Given the description of an element on the screen output the (x, y) to click on. 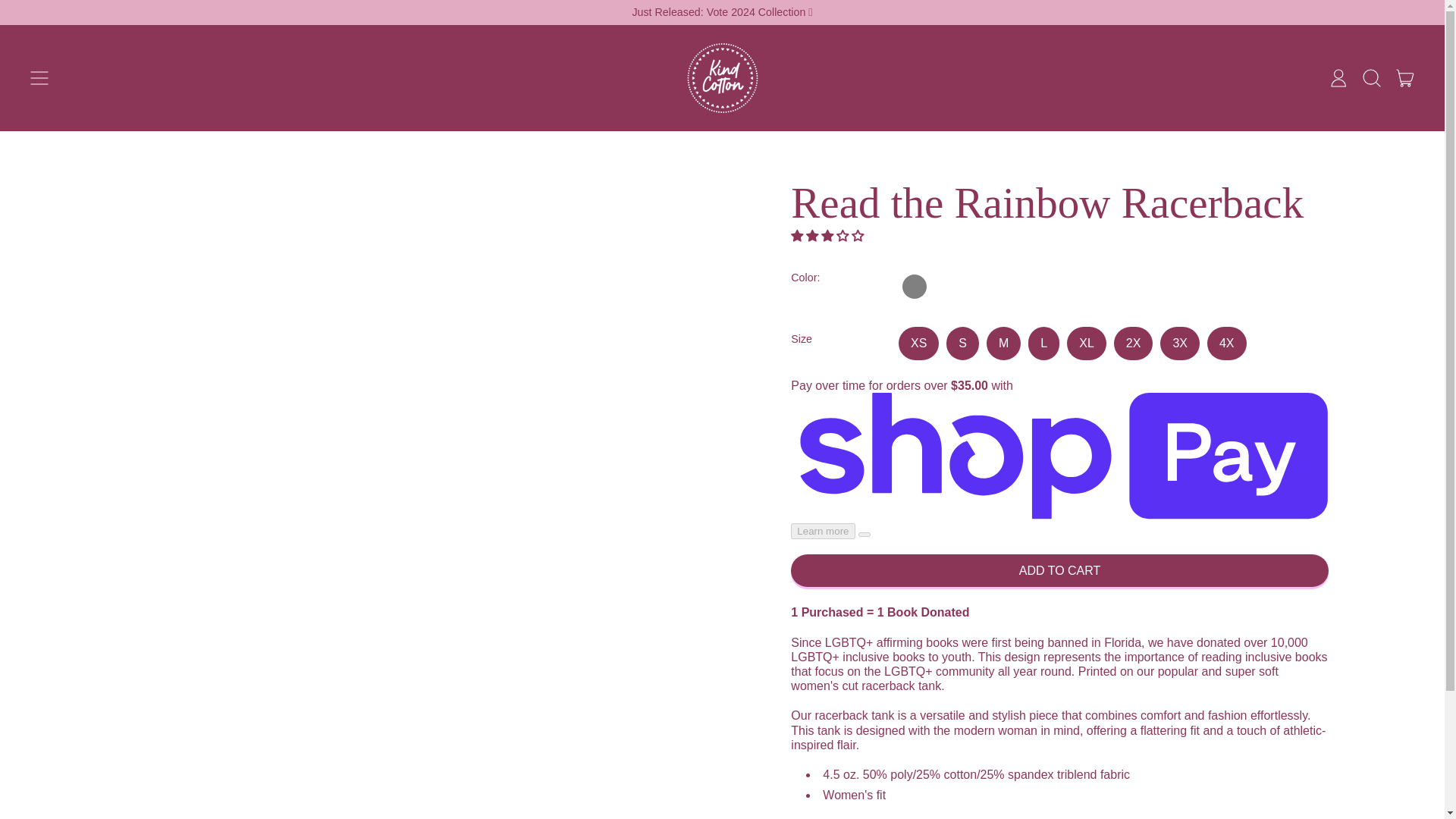
Search our site (1372, 78)
Menu (1405, 78)
ADD TO CART (38, 78)
Log in (1058, 570)
